Given the description of an element on the screen output the (x, y) to click on. 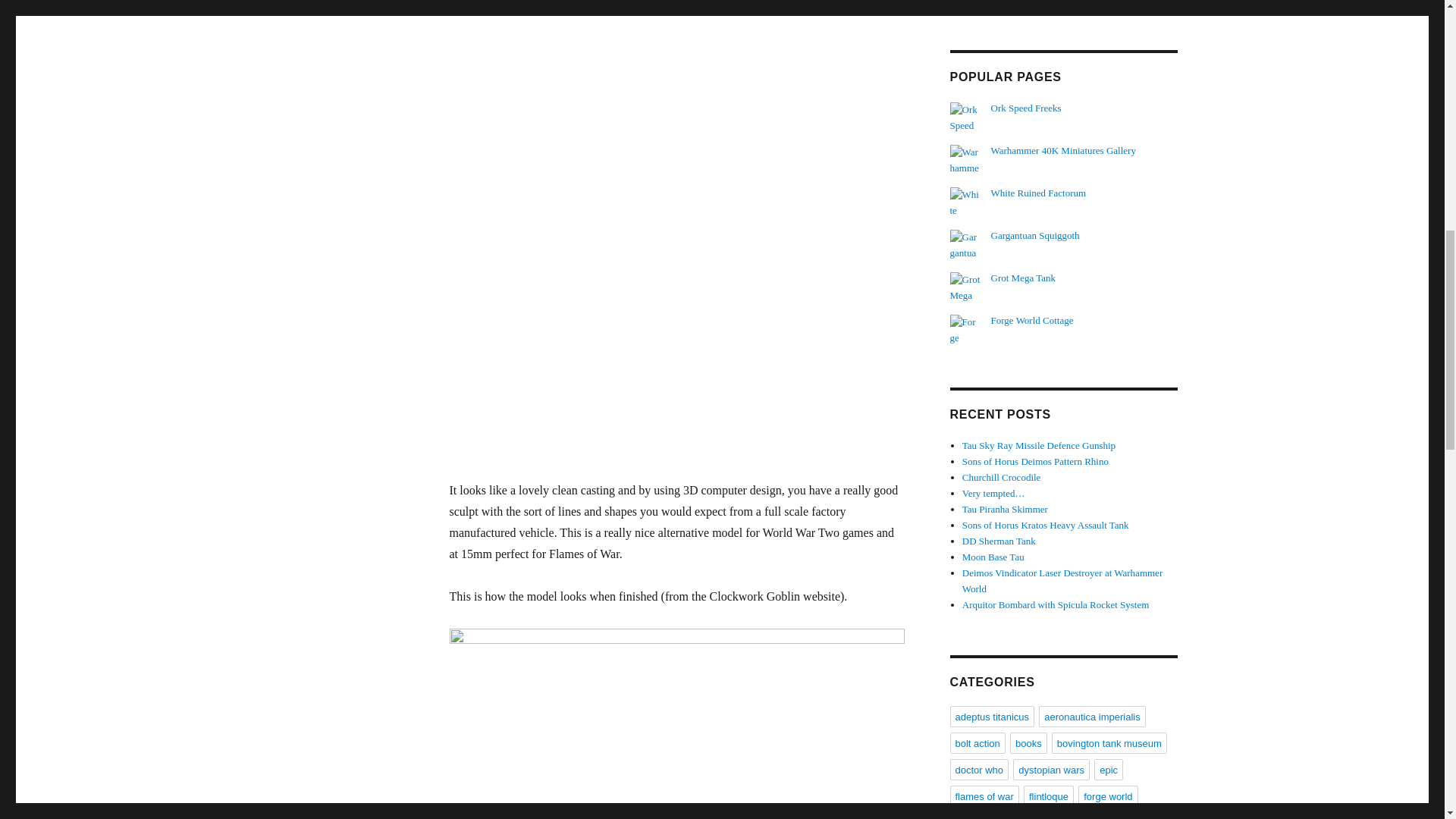
Ork Speed Freeks (1026, 107)
